Given the description of an element on the screen output the (x, y) to click on. 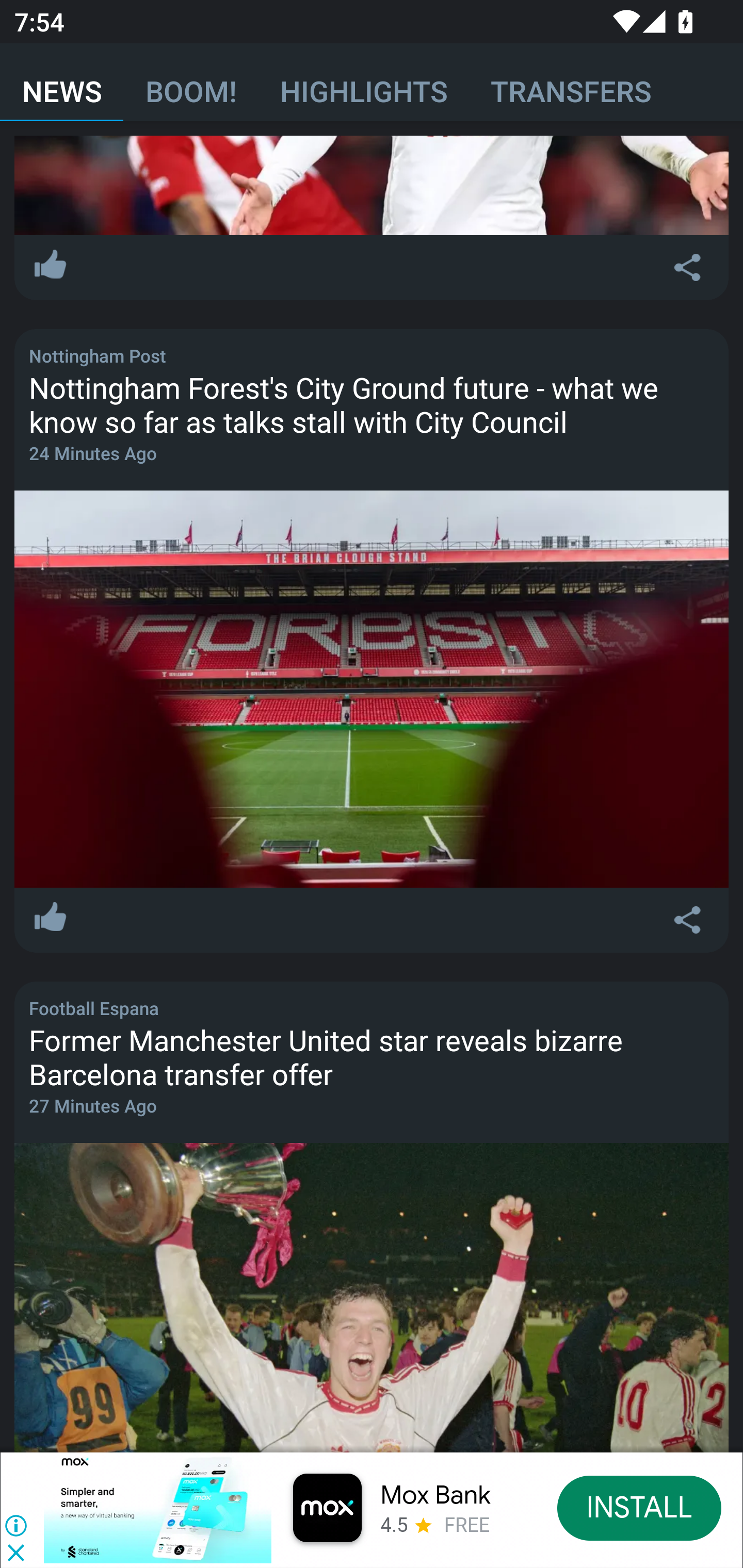
NEWS (61, 81)
BOOM! (190, 81)
HIGHLIGHTS (362, 81)
TRANSFERS (570, 81)
INSTALL (639, 1507)
Mox Bank (435, 1494)
